Given the description of an element on the screen output the (x, y) to click on. 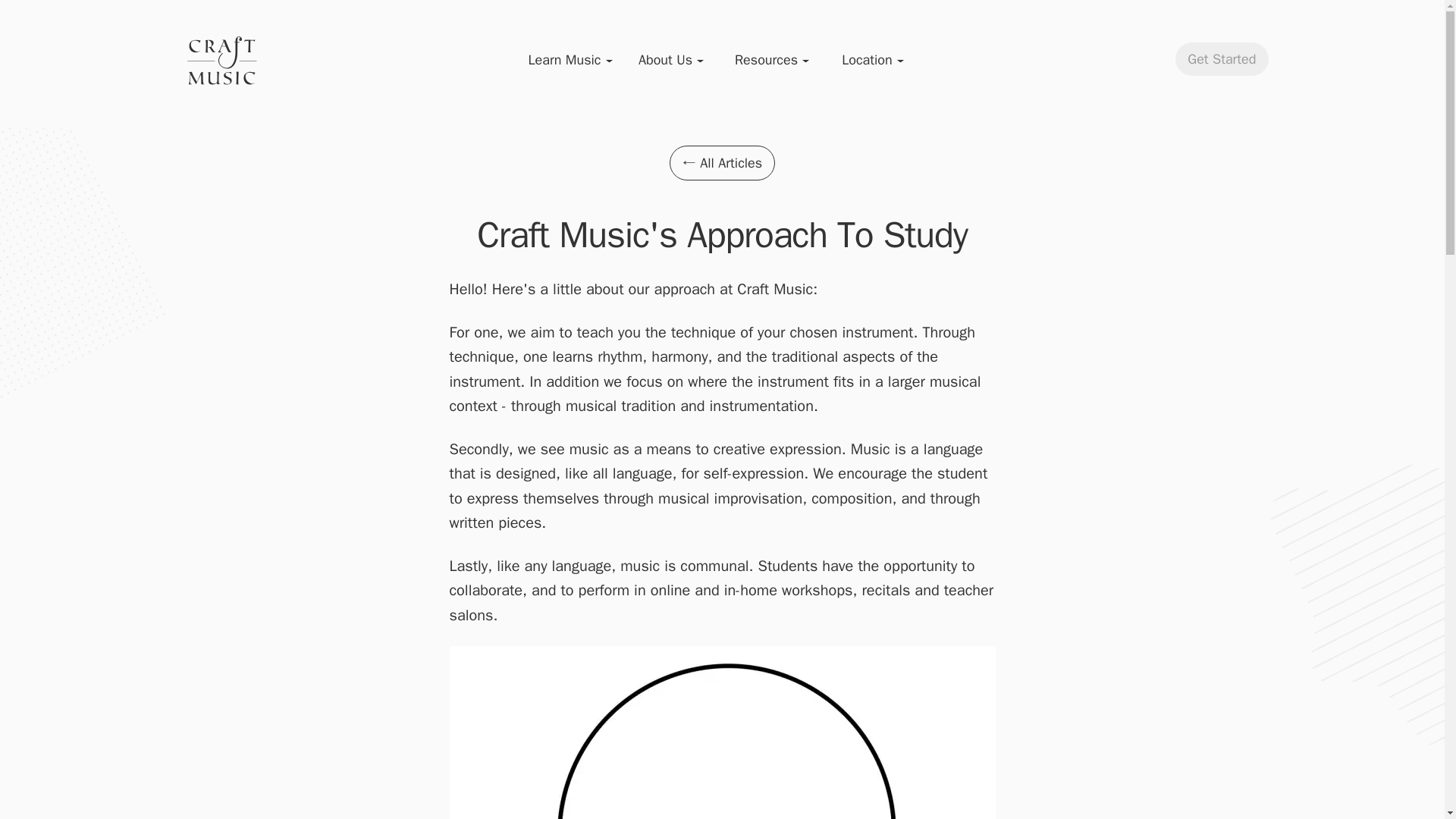
Get Started (1221, 59)
Get Started (1221, 81)
